Given the description of an element on the screen output the (x, y) to click on. 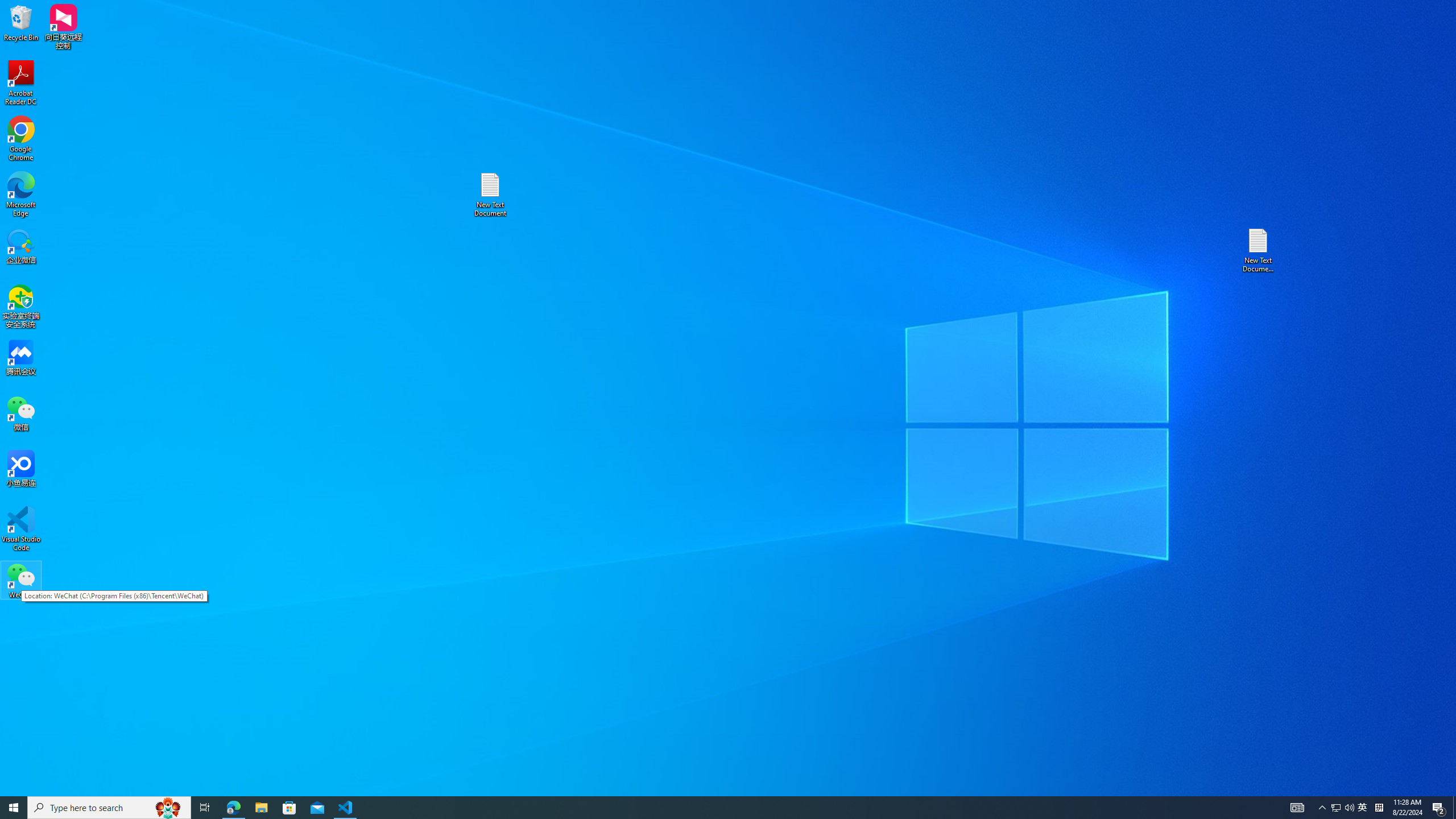
Running applications (1362, 807)
Google Chrome (707, 807)
WeChat (21, 138)
Recycle Bin (21, 580)
